Given the description of an element on the screen output the (x, y) to click on. 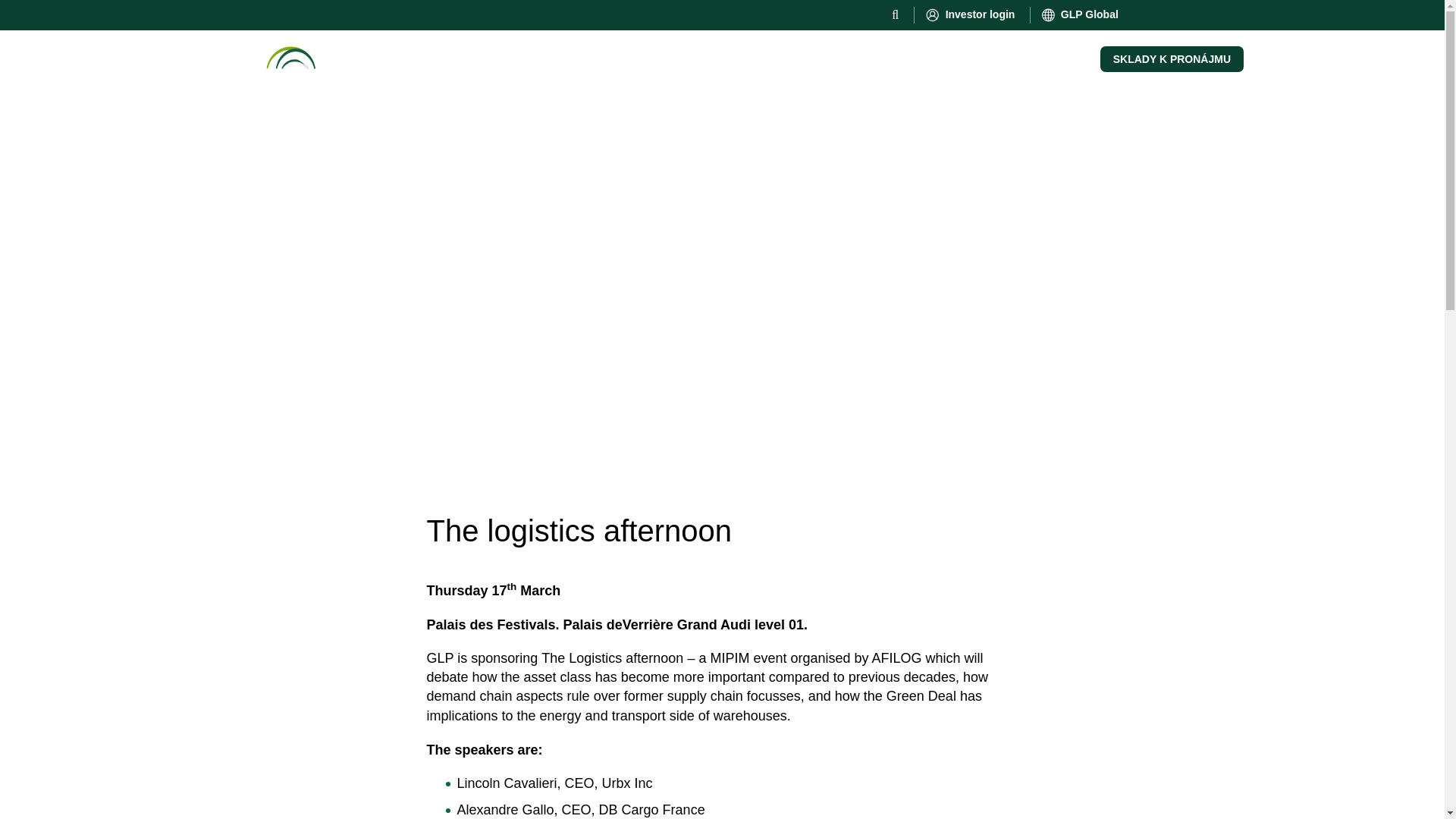
Investor login (971, 14)
GLP Global (1081, 14)
ESG (506, 56)
Novinky a poznatky (598, 56)
